Given the description of an element on the screen output the (x, y) to click on. 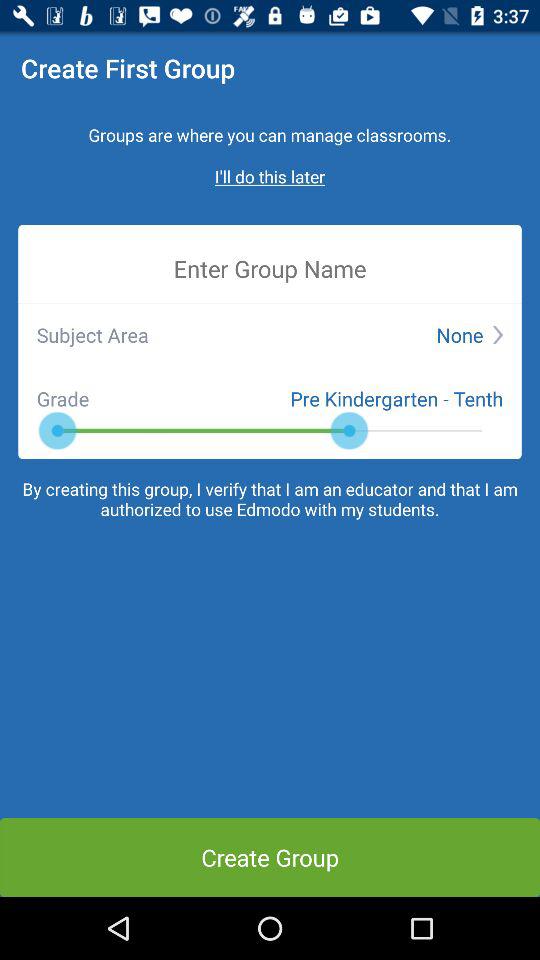
group name entry box (269, 268)
